Given the description of an element on the screen output the (x, y) to click on. 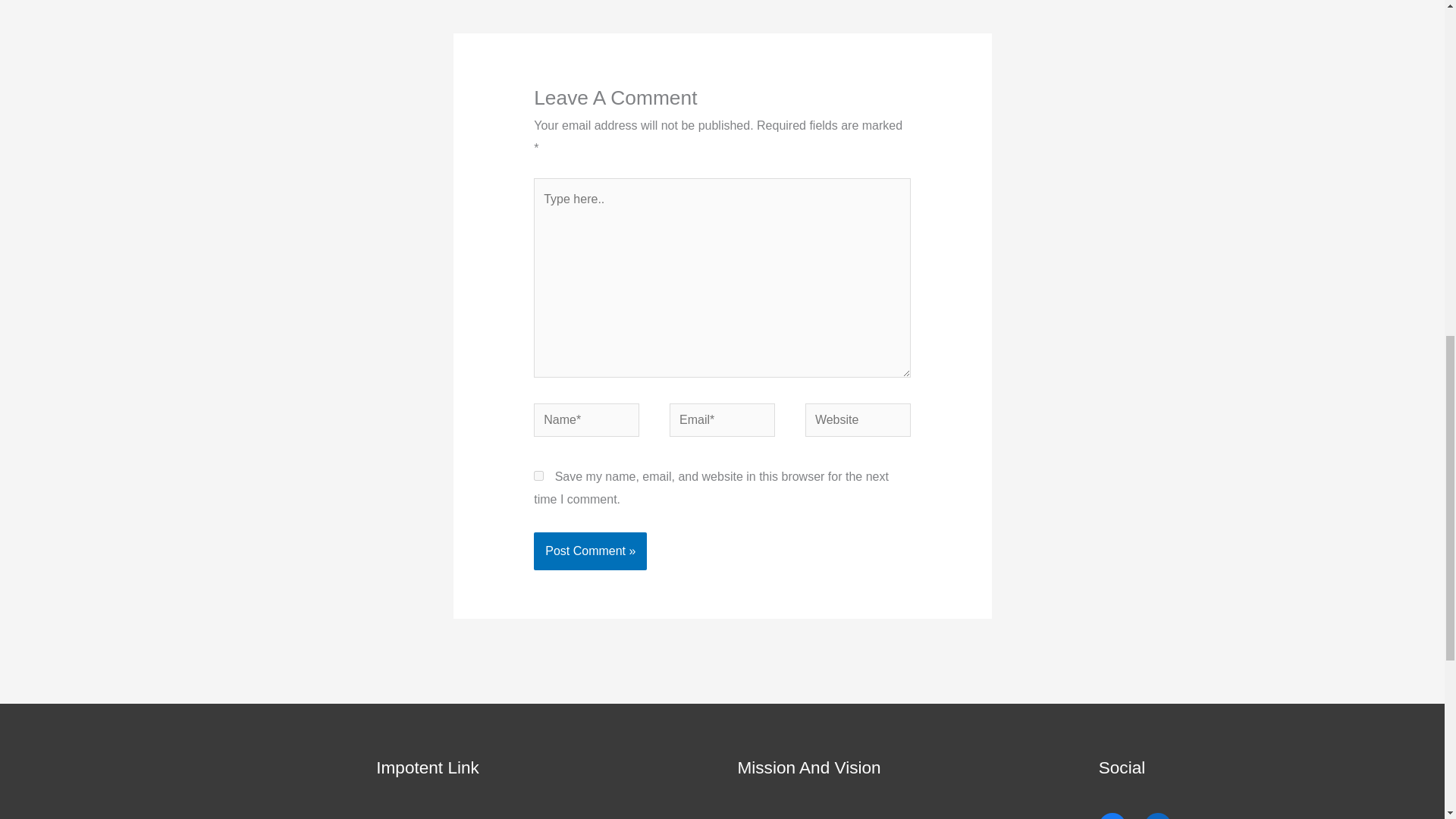
LinkedIn (1158, 816)
Facebook (1112, 816)
Free Steam game cards (955, 3)
Free Skype Gift Cards (499, 3)
About US (401, 818)
yes (538, 475)
